Given the description of an element on the screen output the (x, y) to click on. 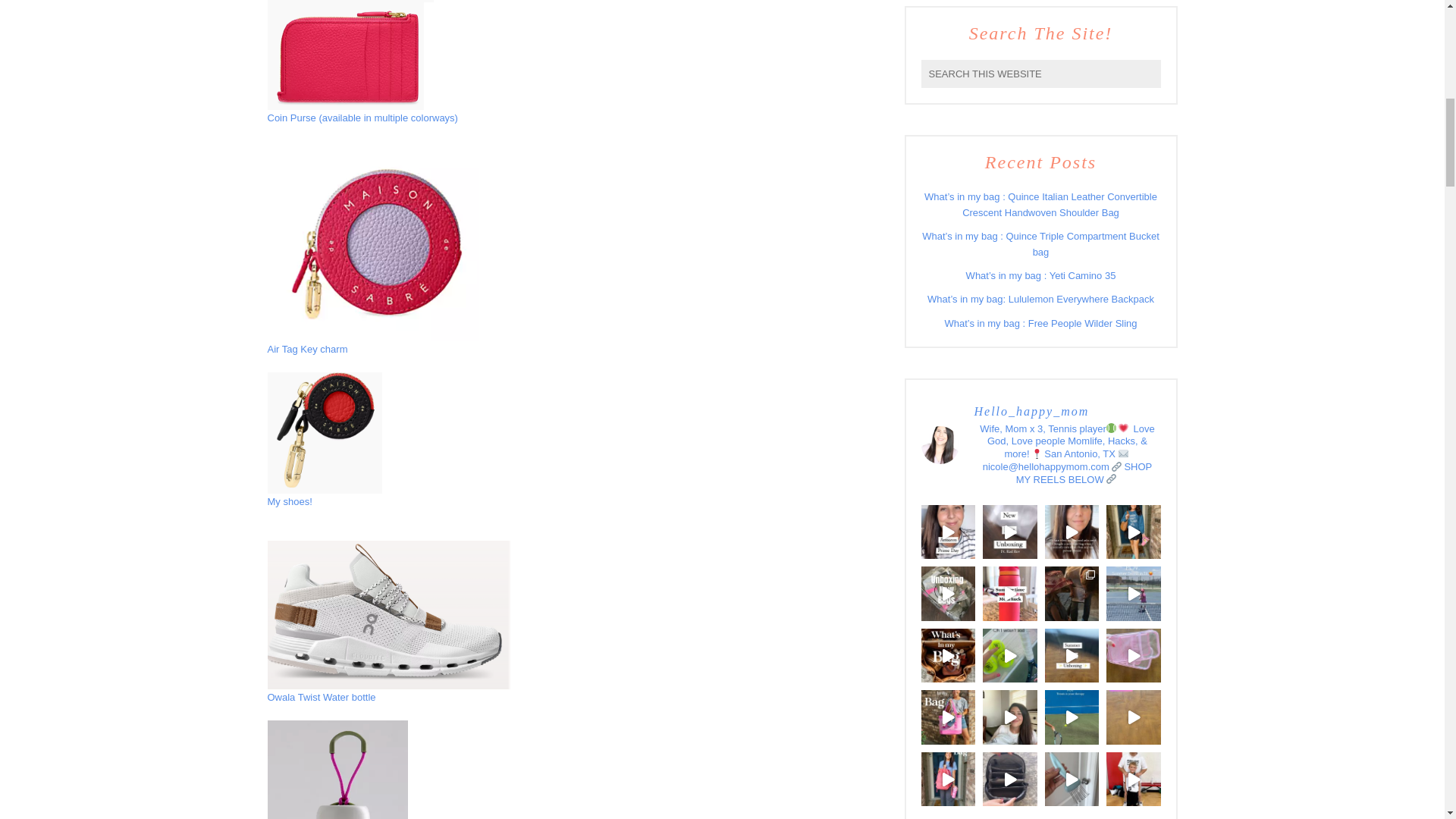
Air Tag Key charm (306, 348)
Owala Twist Water bottle (320, 696)
My shoes! (288, 501)
